Given the description of an element on the screen output the (x, y) to click on. 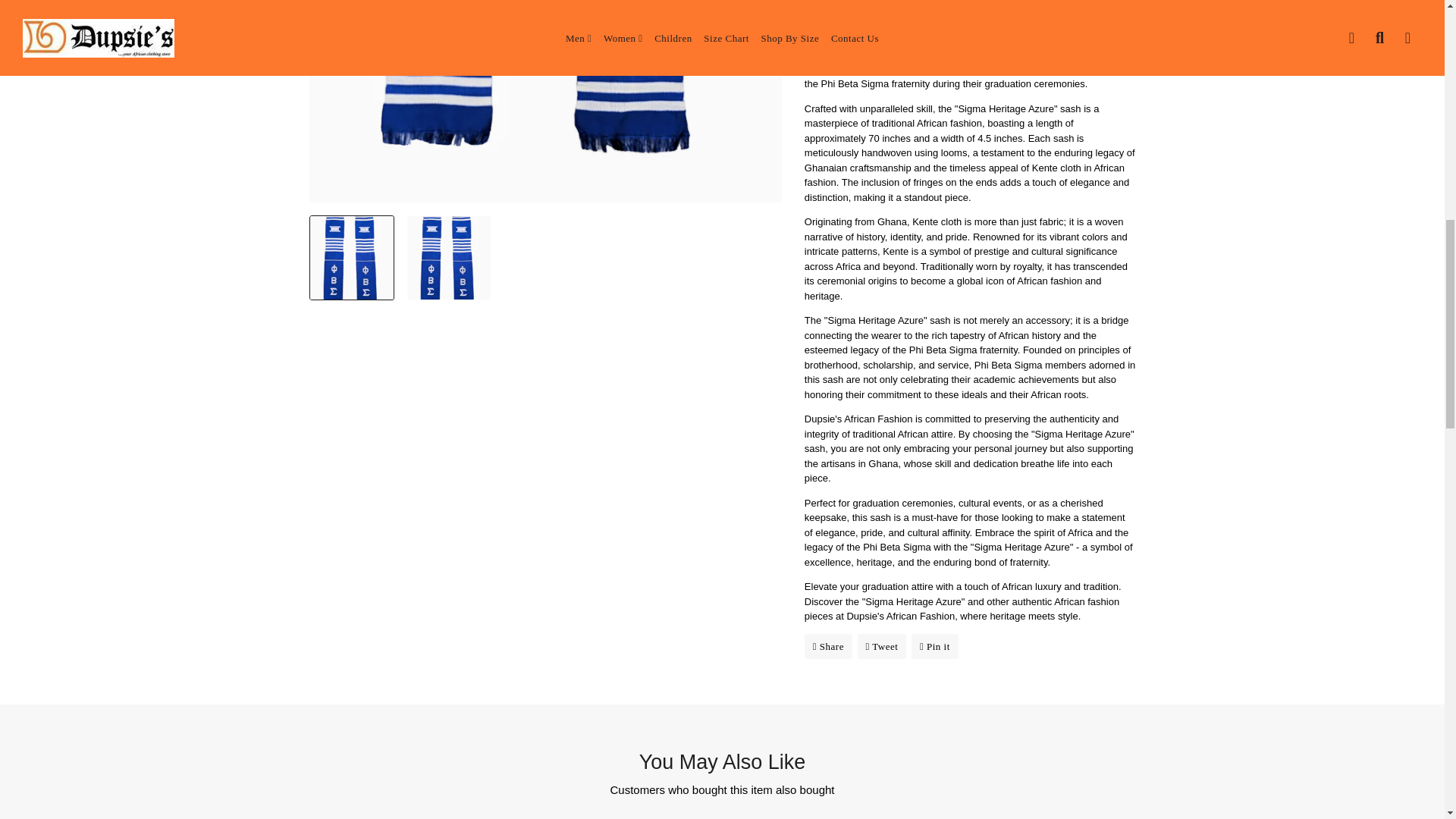
Pin on Pinterest (934, 646)
Tweet on Twitter (882, 646)
Share on Facebook (828, 646)
